Given the description of an element on the screen output the (x, y) to click on. 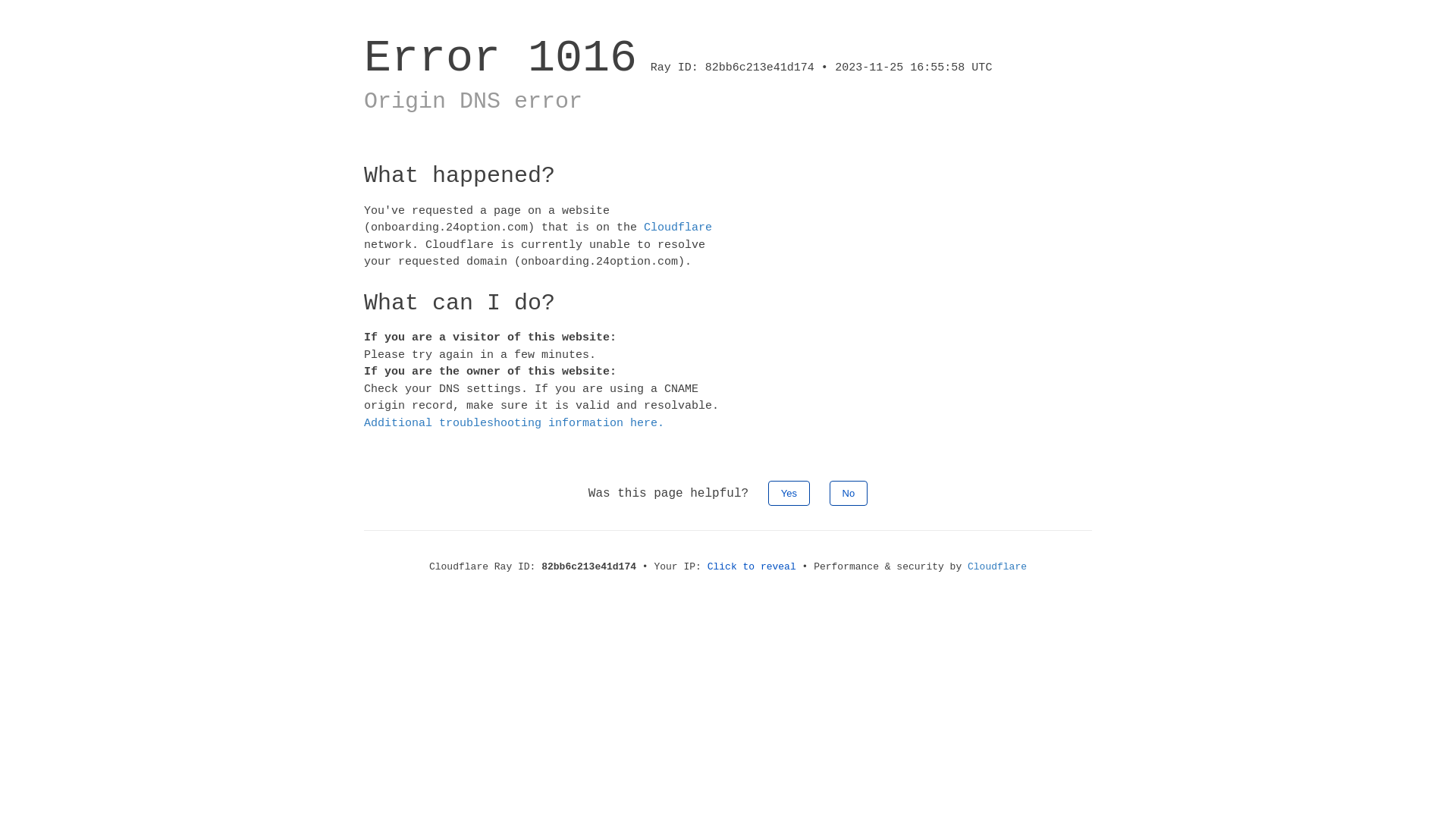
Cloudflare Element type: text (677, 227)
Cloudflare Element type: text (996, 566)
No Element type: text (848, 492)
Yes Element type: text (788, 492)
Additional troubleshooting information here. Element type: text (514, 423)
Click to reveal Element type: text (751, 566)
